Given the description of an element on the screen output the (x, y) to click on. 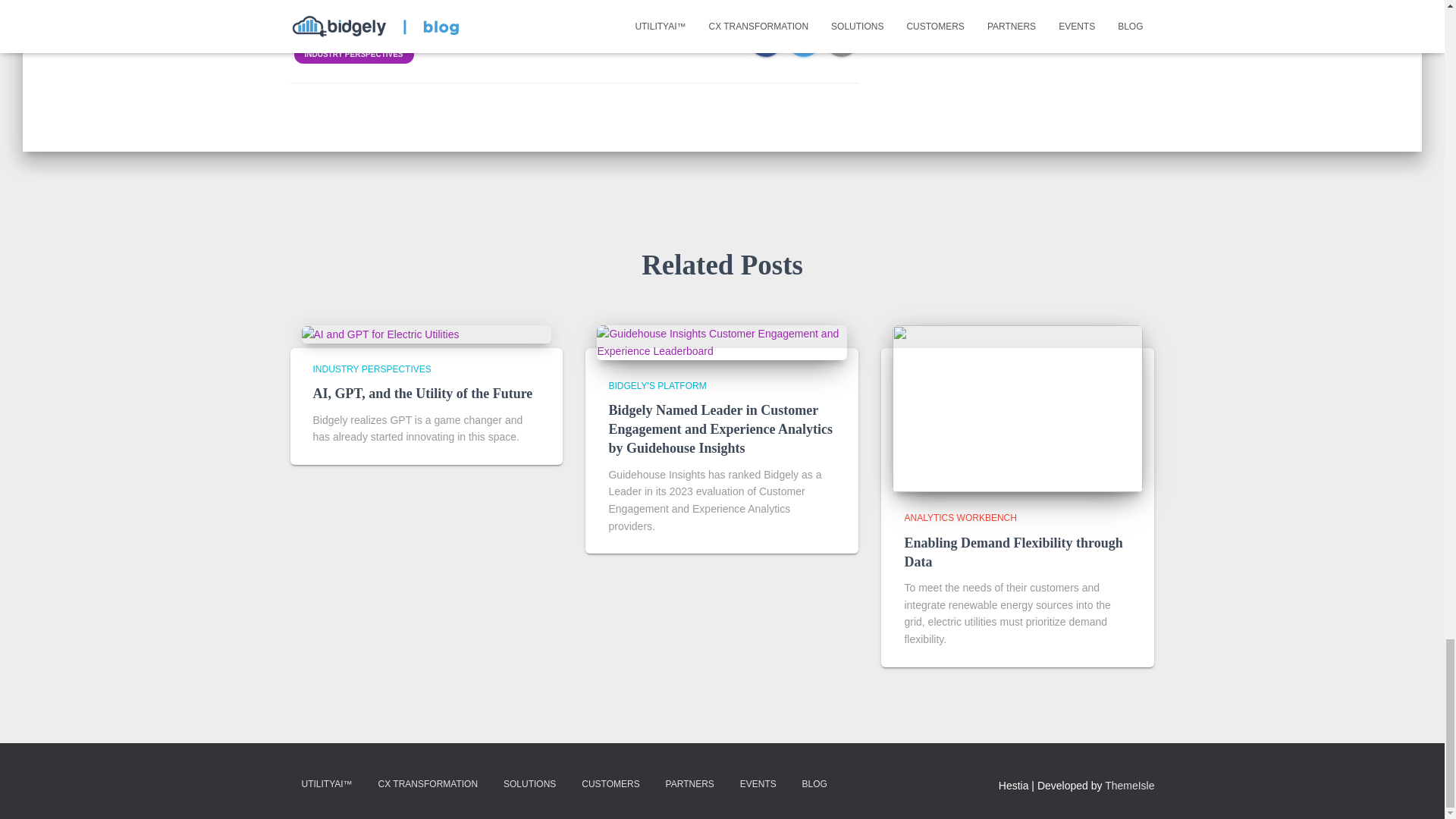
AI, GPT, and the Utility of the Future (380, 333)
INDUSTRY PERSPECTIVES (353, 54)
AI, GPT, and the Utility of the Future (422, 393)
View all posts in Analytics Workbench (960, 517)
ANALYTICS WORKBENCH (960, 517)
View all posts in Bidgely's Platform (657, 385)
BIDGELY'S PLATFORM (657, 385)
Enabling Demand Flexibility through Data (1017, 408)
ANALYTICS WORKBENCH (408, 28)
SOLUTIONS (529, 784)
Enabling Demand Flexibility through Data (1013, 552)
View all posts in Industry Perspectives (371, 368)
